Given the description of an element on the screen output the (x, y) to click on. 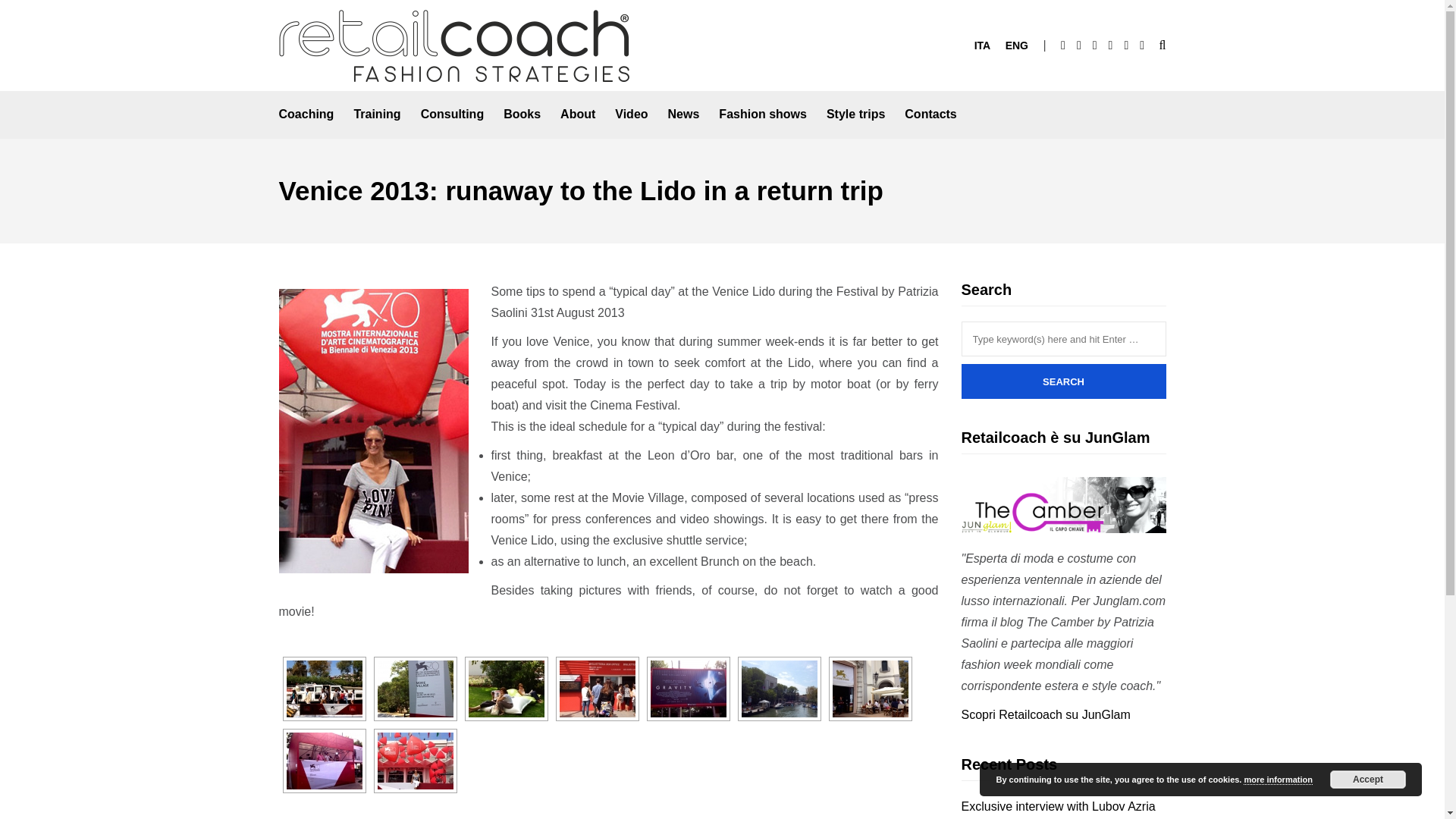
05 (688, 688)
01 (324, 688)
Search (1063, 380)
03 (506, 688)
Training (376, 114)
Contacts (930, 114)
About (577, 114)
Video (631, 114)
Books (521, 114)
Search (1063, 380)
ENG (1016, 45)
Fashion shows (762, 114)
07 (870, 688)
04 (596, 688)
02 (414, 688)
